Given the description of an element on the screen output the (x, y) to click on. 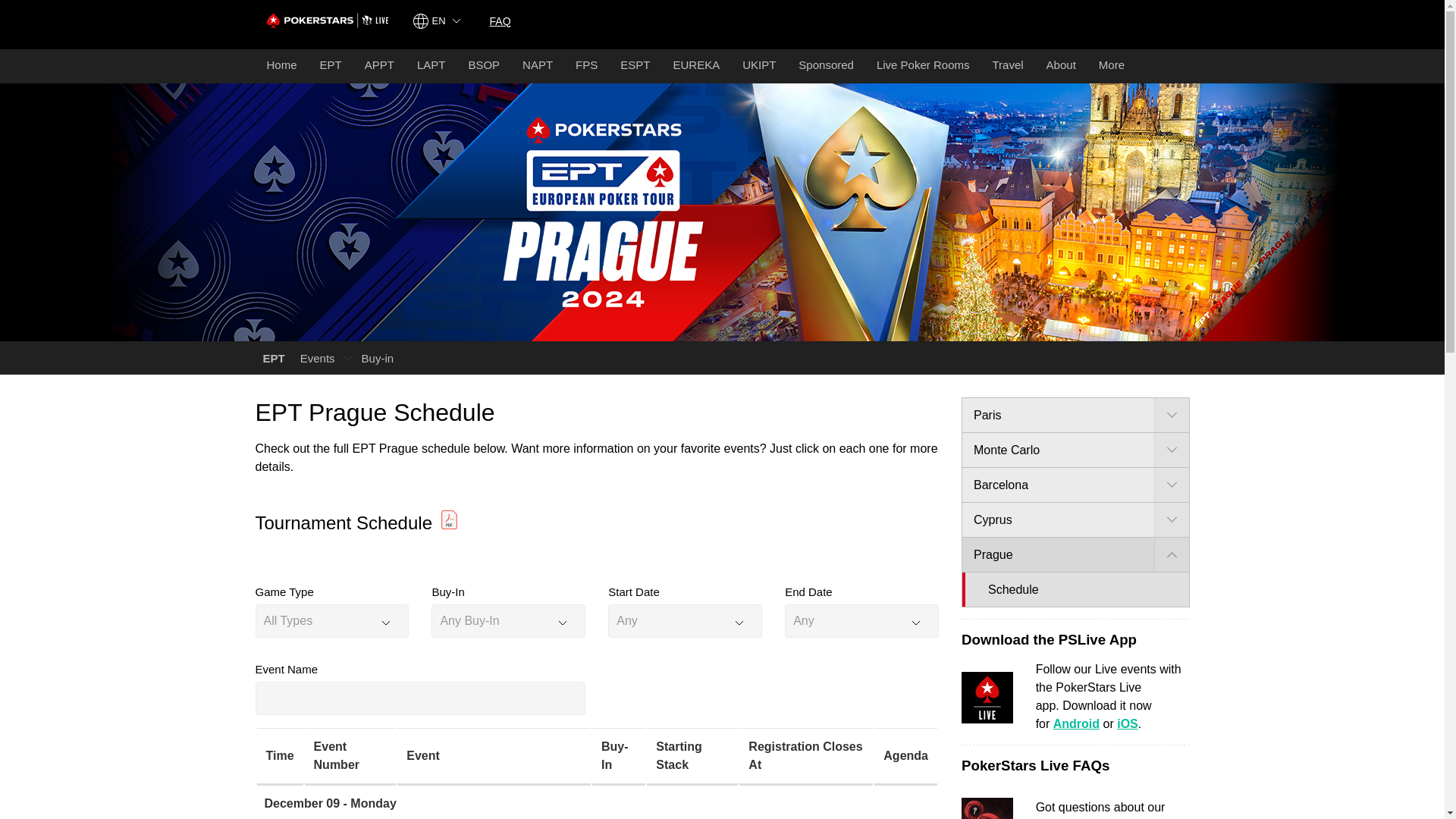
BSOP (484, 66)
FAQ (500, 20)
Travel (1006, 66)
EPT (273, 358)
LAPT (431, 66)
APPT (379, 66)
EPT (330, 66)
Home (280, 66)
ESPT (634, 66)
About (1061, 66)
Buy-in (377, 358)
EUREKA (695, 66)
FPS (586, 66)
UKIPT (758, 66)
Sponsored (825, 66)
